Given the description of an element on the screen output the (x, y) to click on. 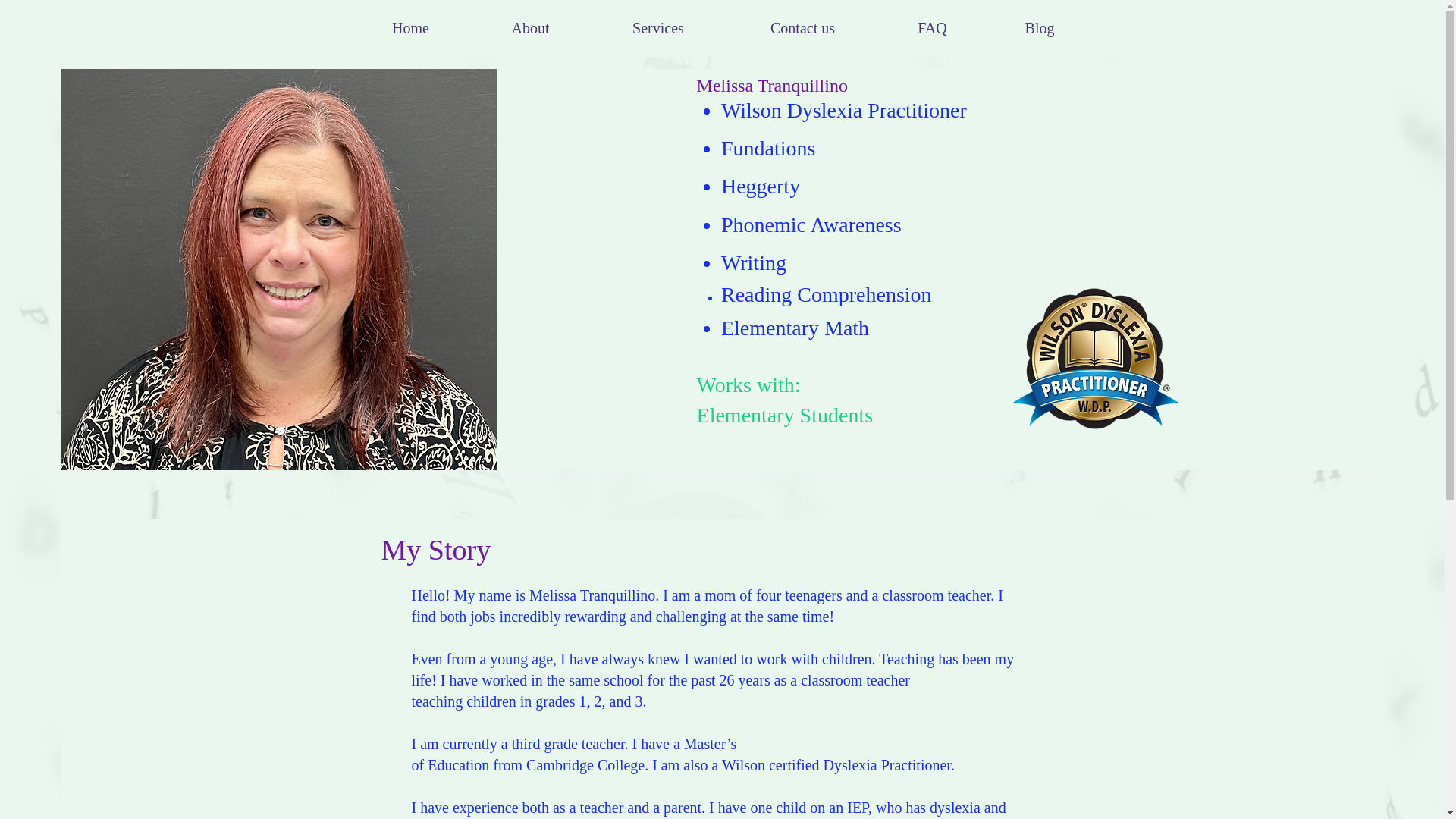
FAQ (932, 28)
Home (410, 28)
About (529, 28)
Blog (1039, 28)
Services (657, 28)
Contact us (802, 28)
